Given the description of an element on the screen output the (x, y) to click on. 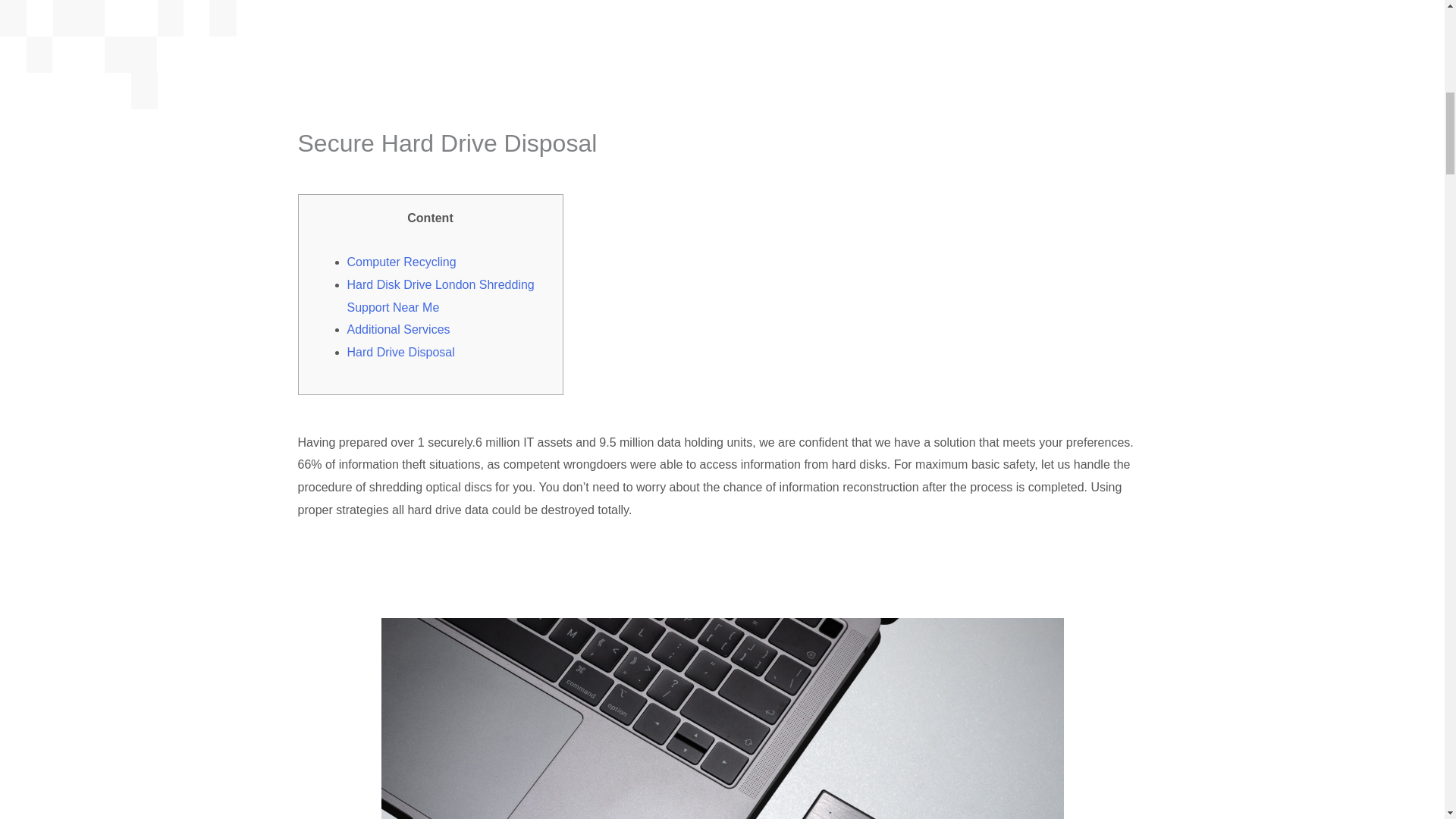
Hard Drive Disposal (400, 351)
Computer Recycling (402, 261)
Hard Disk Drive London Shredding Support Near Me (440, 295)
Additional Services (398, 328)
